Given the description of an element on the screen output the (x, y) to click on. 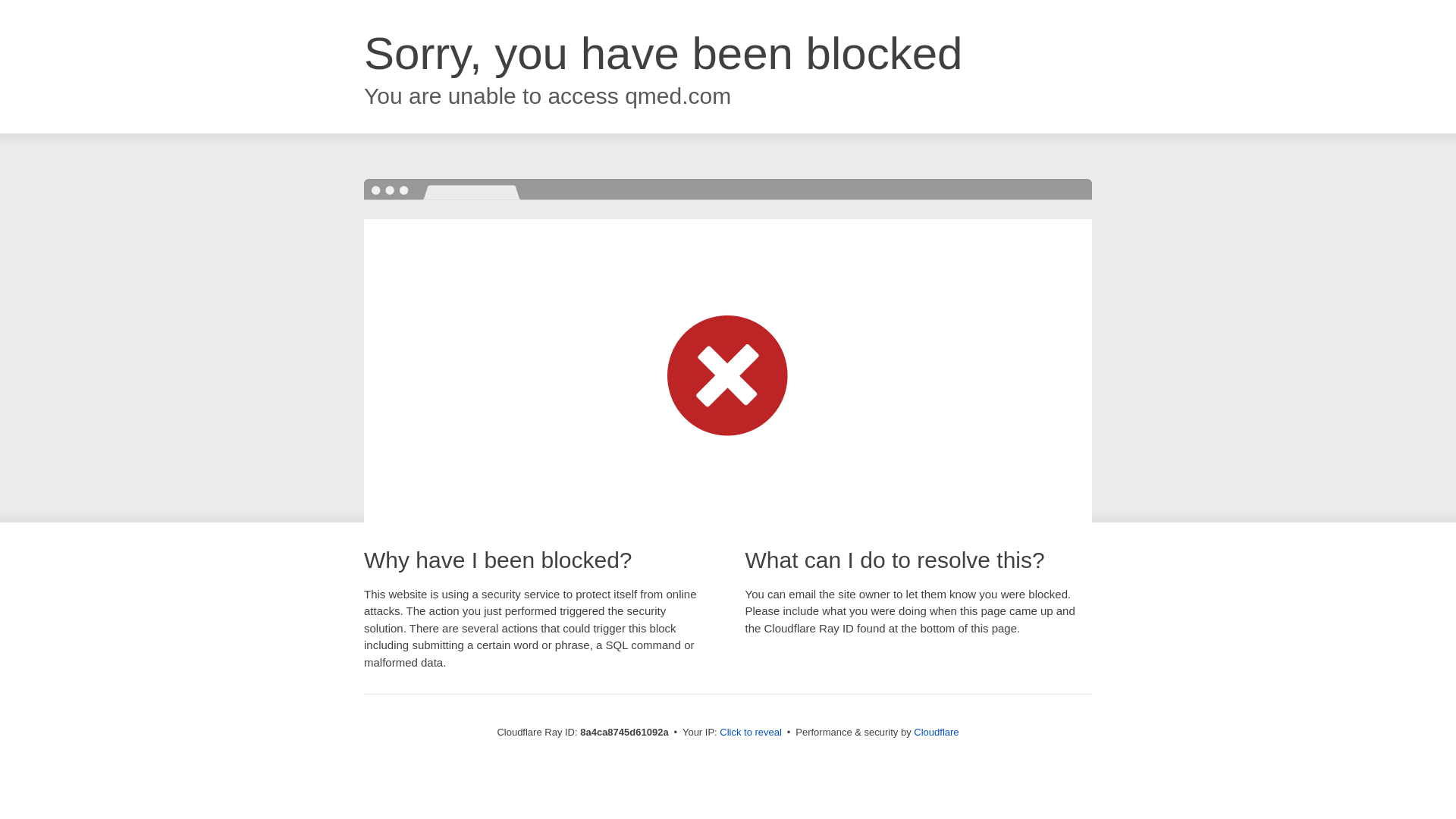
Cloudflare (936, 731)
Click to reveal (750, 732)
